Given the description of an element on the screen output the (x, y) to click on. 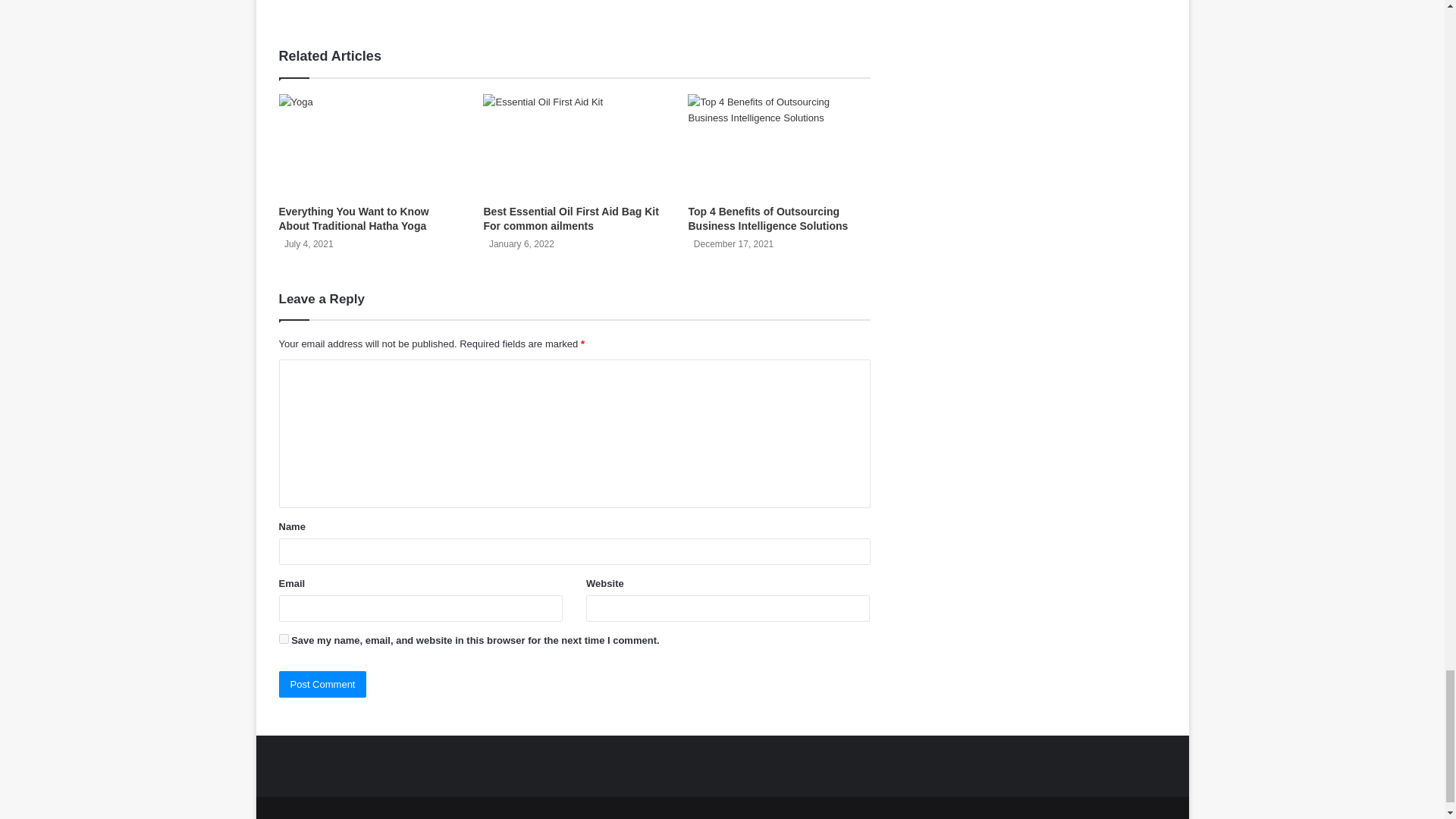
yes (283, 638)
Post Comment (322, 683)
